Given the description of an element on the screen output the (x, y) to click on. 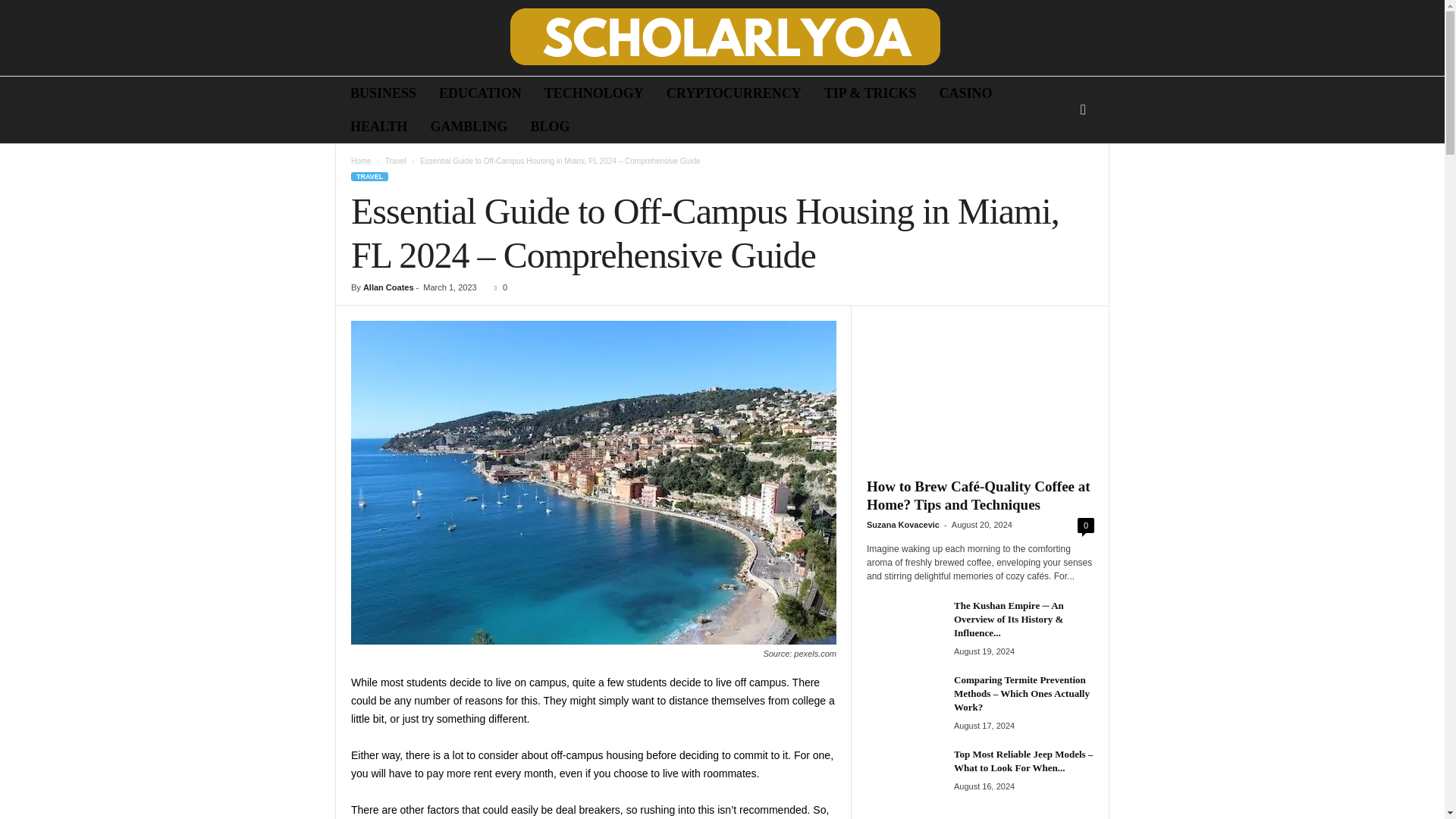
GAMBLING (468, 126)
CRYPTOCURRENCY (733, 92)
TECHNOLOGY (593, 92)
Allan Coates (387, 286)
TRAVEL (369, 175)
CASINO (966, 92)
0 (496, 286)
Travel (395, 161)
BUSINESS (383, 92)
